Given the description of an element on the screen output the (x, y) to click on. 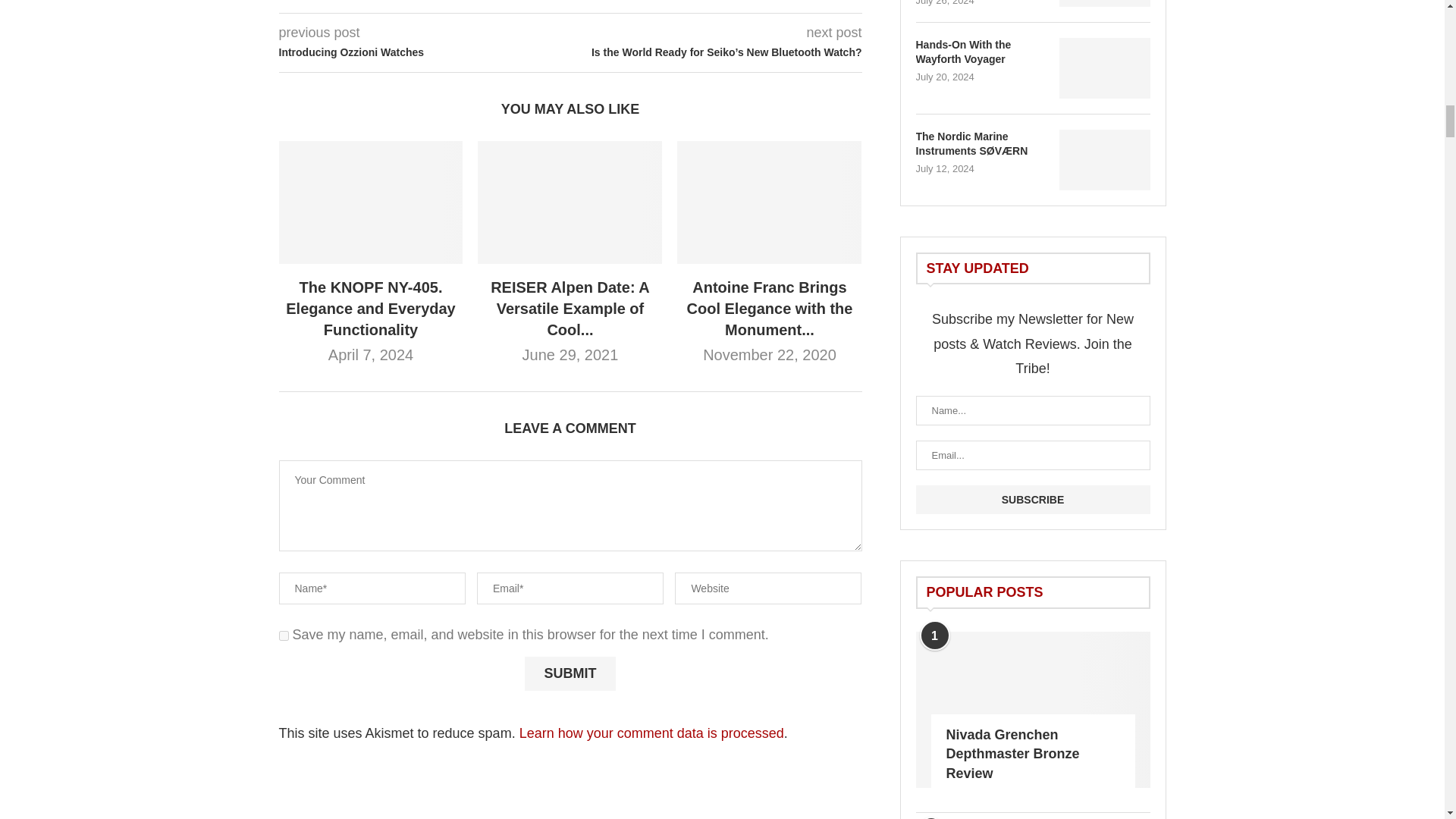
The KNOPF NY-405. Elegance and Everyday Functionality (371, 201)
yes (283, 635)
Antoine Franc Brings Cool Elegance with the Monument Series (769, 201)
REISER Alpen Date: A Versatile Example of Cool Design (569, 201)
REISER Alpen Date: A Versatile Example of Cool... (569, 308)
Introducing Ozzioni Watches (424, 52)
Submit (569, 673)
The KNOPF NY-405. Elegance and Everyday Functionality (369, 308)
Antoine Franc Brings Cool Elegance with the Monument... (770, 308)
Subscribe (1032, 499)
